Given the description of an element on the screen output the (x, y) to click on. 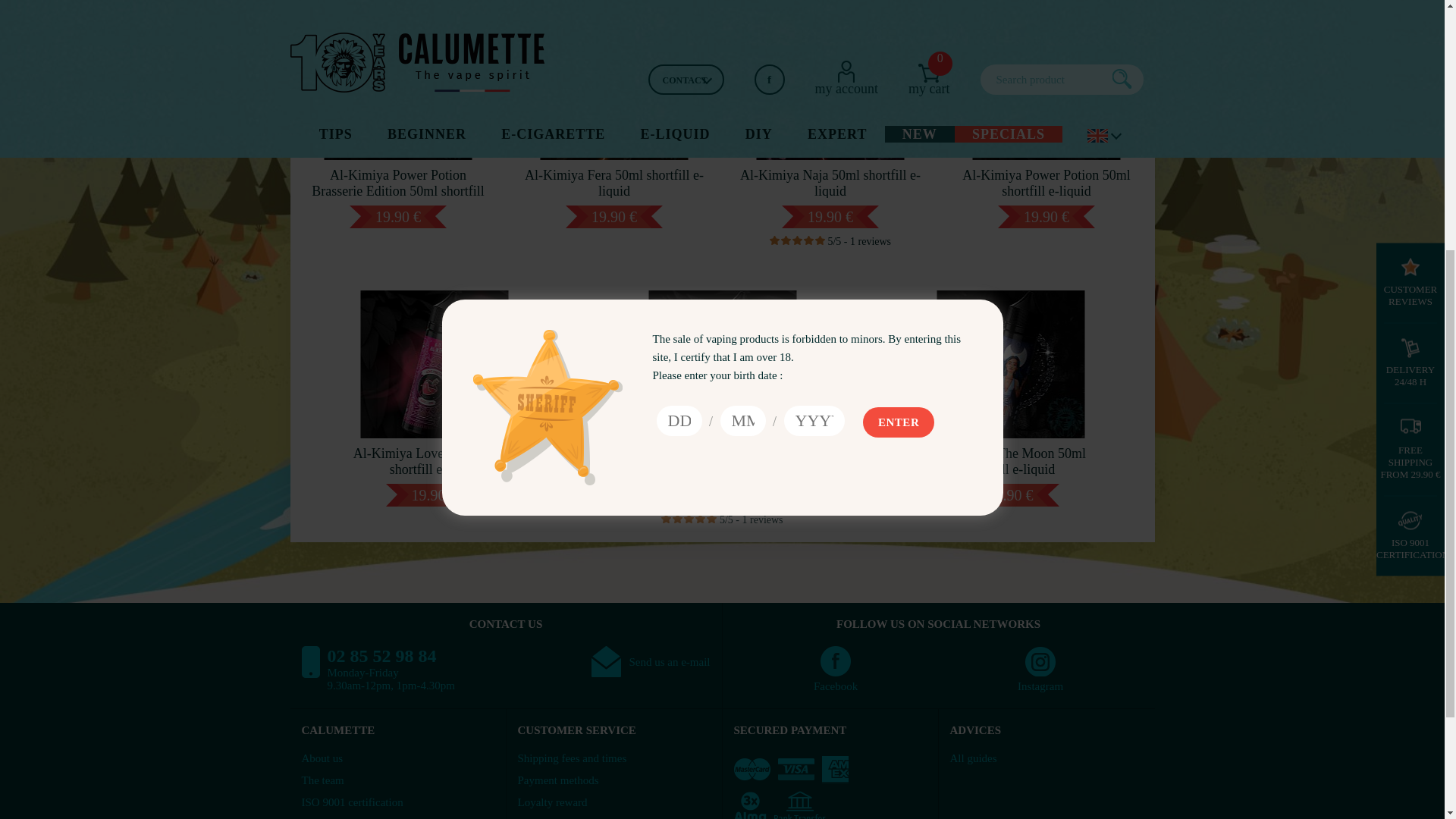
Al-Kimiya The Moon 50ml shortfill e-liquid (1010, 381)
Al-Kimiya Fera 50ml shortfill e-liquid (614, 102)
Al-Kimiya Power Potion 50ml shortfill e-liquid (1046, 102)
Al-Kimiya Naja 50ml shortfill e-liquid (829, 102)
Al-Kimiya Liquid Luck 50ml shortfill e-liquid (721, 381)
Al-Kimiya Love Philter 50ml shortfill e-liquid (433, 381)
